Given the description of an element on the screen output the (x, y) to click on. 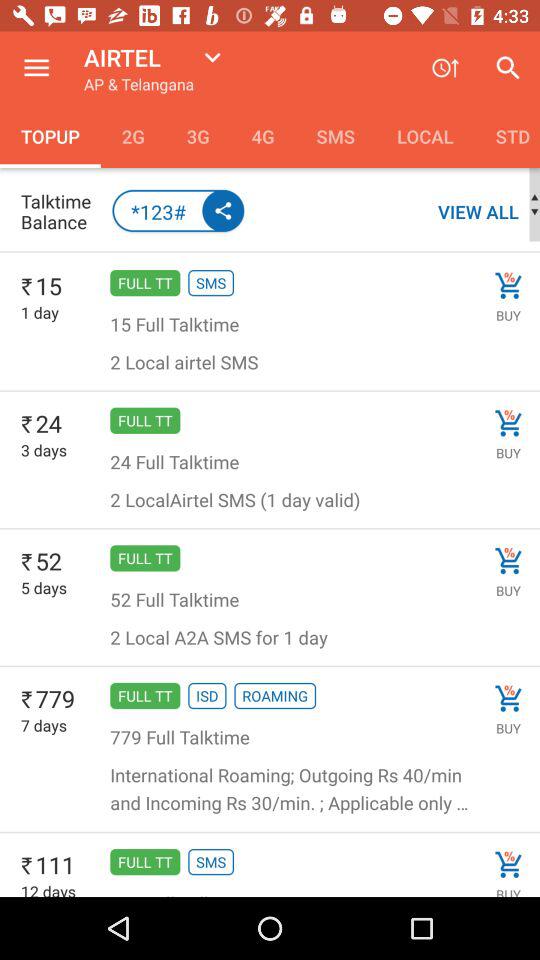
flip until the std icon (507, 136)
